Given the description of an element on the screen output the (x, y) to click on. 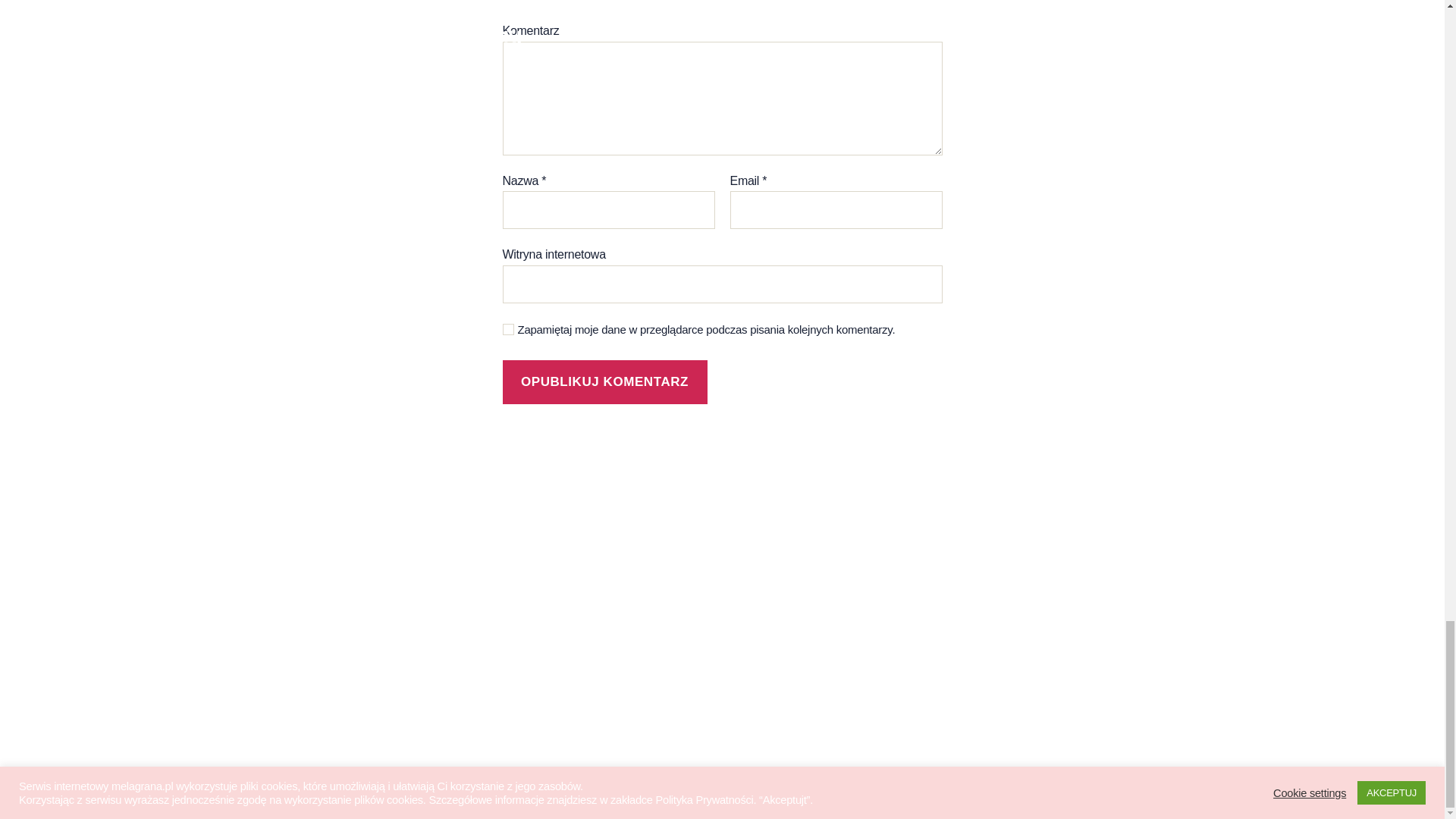
Opublikuj komentarz (604, 382)
Opublikuj komentarz (604, 382)
co robimy (300, 578)
kontakt (291, 656)
o nas (285, 525)
yes (507, 328)
oferta (285, 630)
moja historia (310, 552)
